Given the description of an element on the screen output the (x, y) to click on. 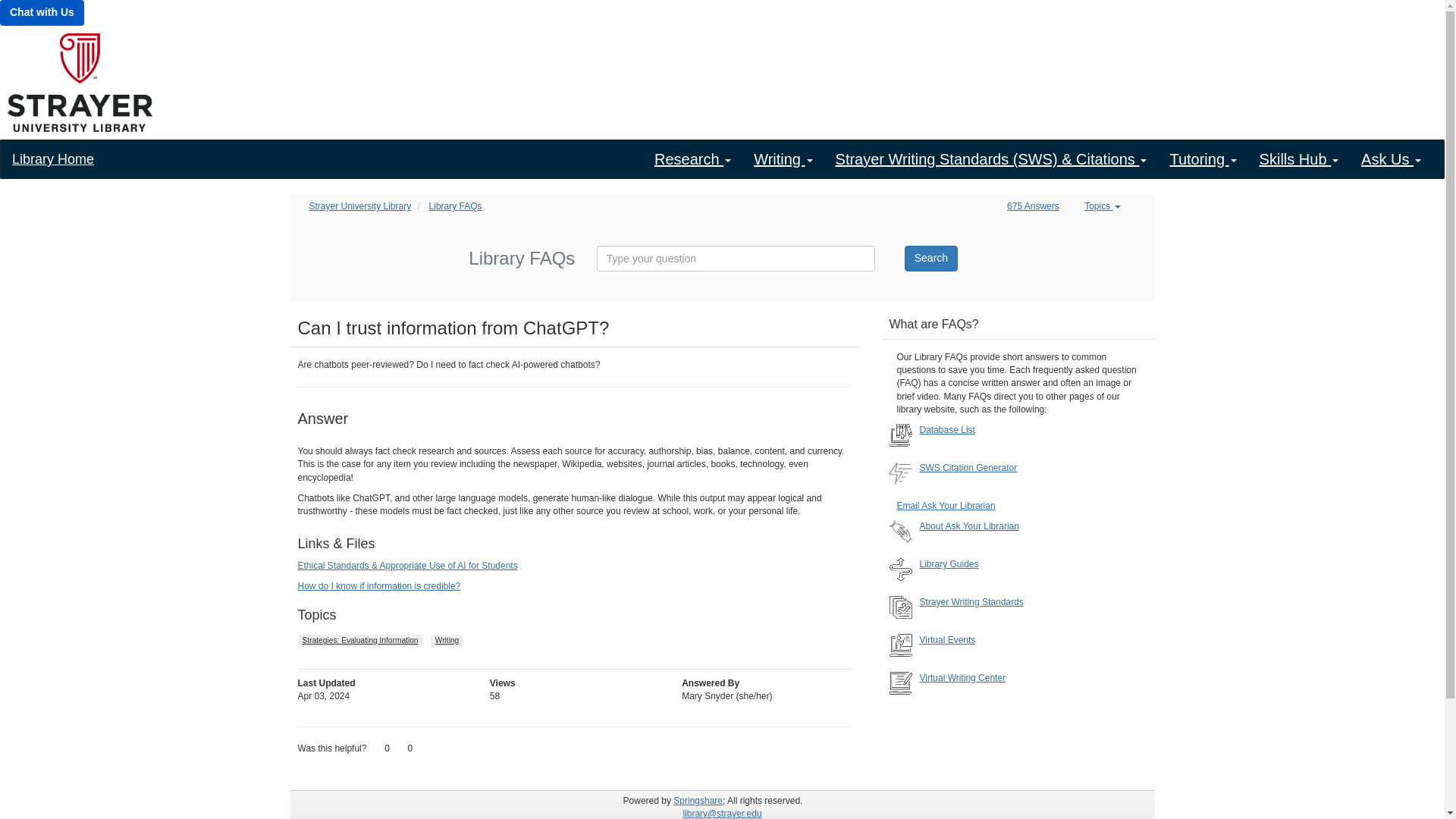
Library Home (52, 159)
Writing (783, 159)
Tutoring (1202, 159)
Opens in new window (406, 565)
Opens in new window (378, 585)
Chat with Us (42, 12)
Research (692, 159)
Skills Hub (1298, 159)
